Given the description of an element on the screen output the (x, y) to click on. 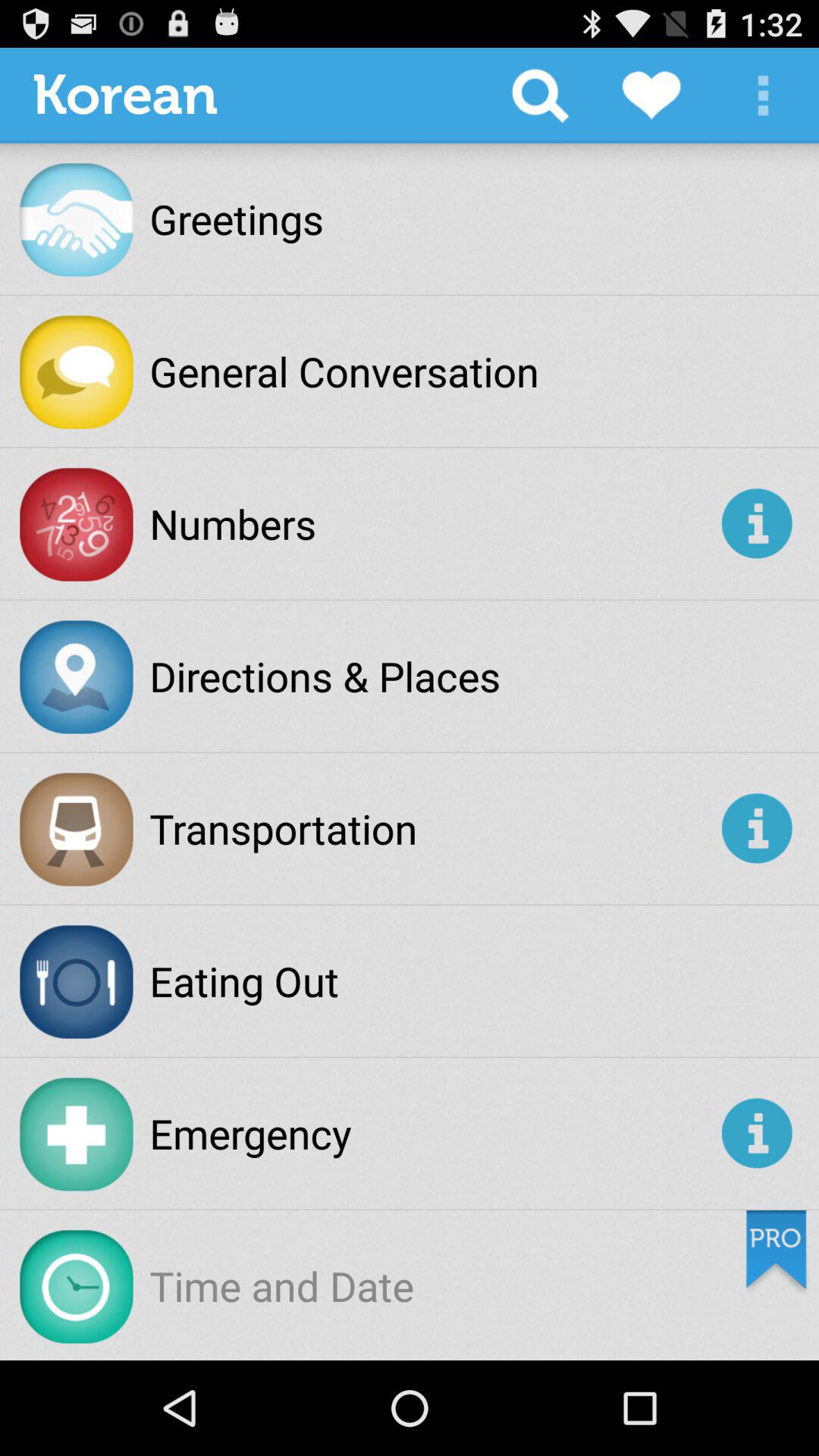
turn off the app to the right of korean app (540, 95)
